Given the description of an element on the screen output the (x, y) to click on. 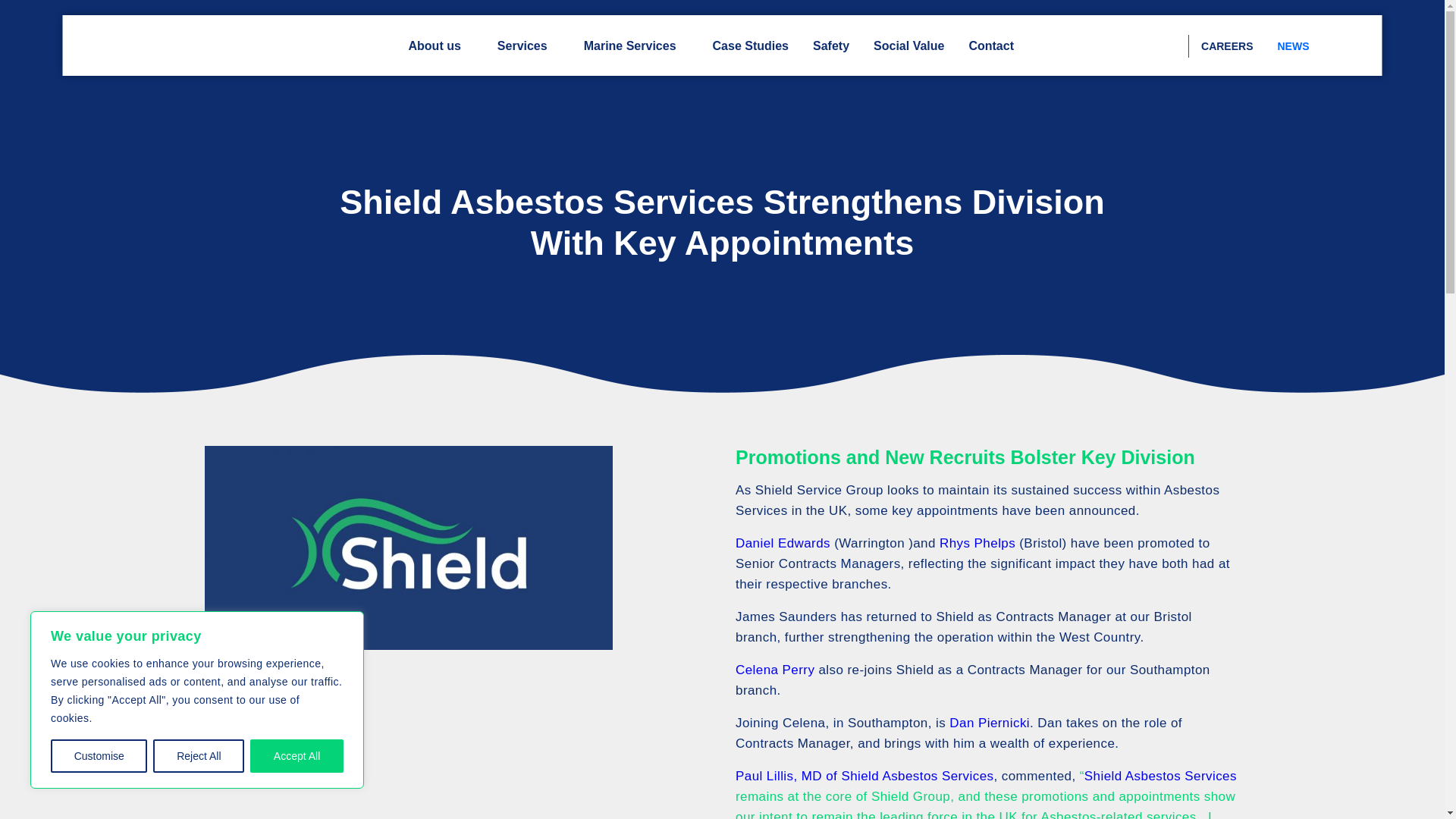
Shield Environmental Services homepage (143, 44)
Services (528, 45)
Accept All (296, 756)
Marine Services (636, 45)
About us (440, 45)
Reject All (198, 756)
Customise (98, 756)
Shield Environmental Services homepage (143, 44)
